Given the description of an element on the screen output the (x, y) to click on. 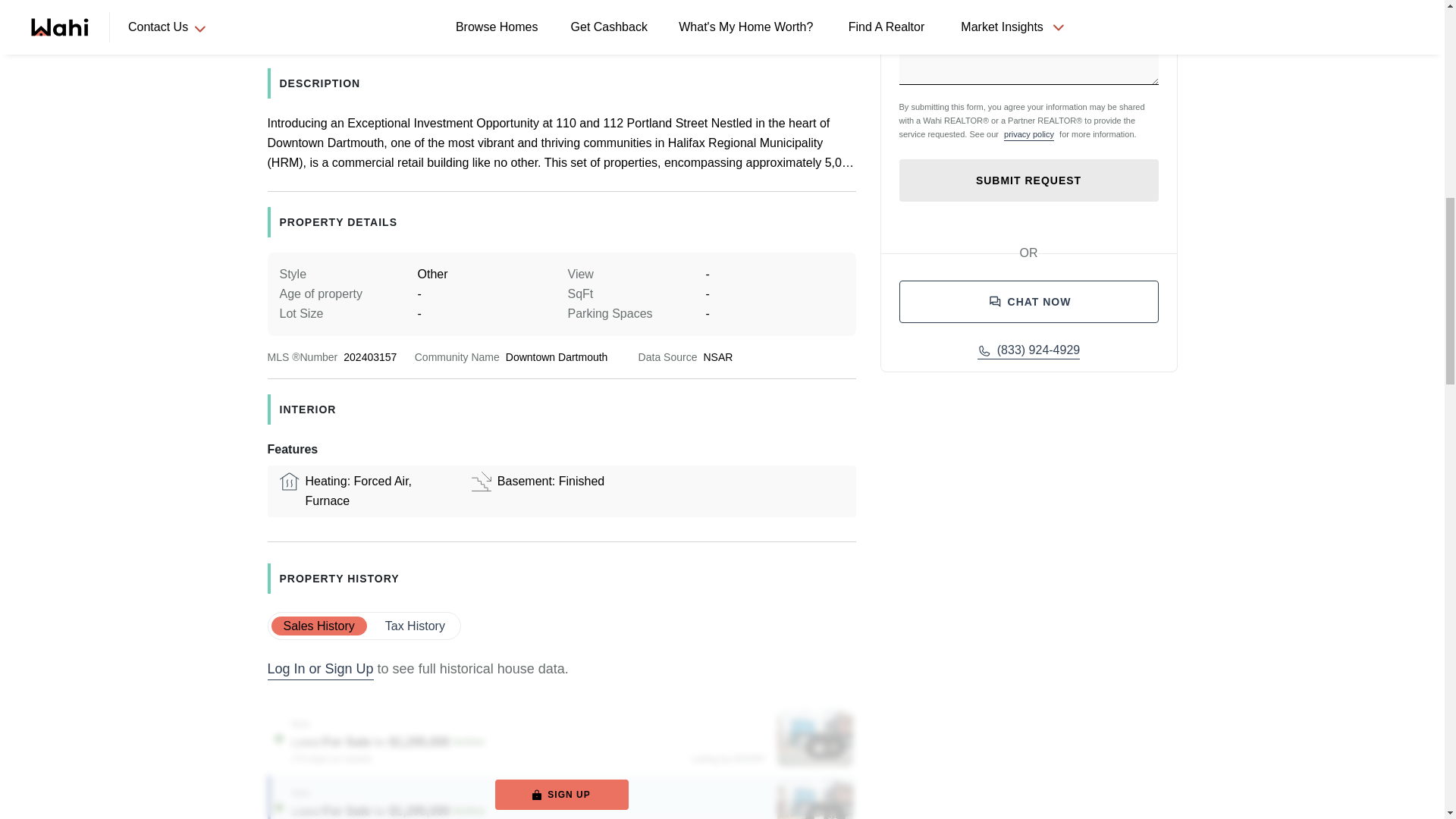
SUBMIT REQUEST (1028, 179)
CHAT NOW (1028, 301)
Log In or Sign Up (319, 670)
SIGN UP (561, 794)
privacy policy (1029, 133)
